Given the description of an element on the screen output the (x, y) to click on. 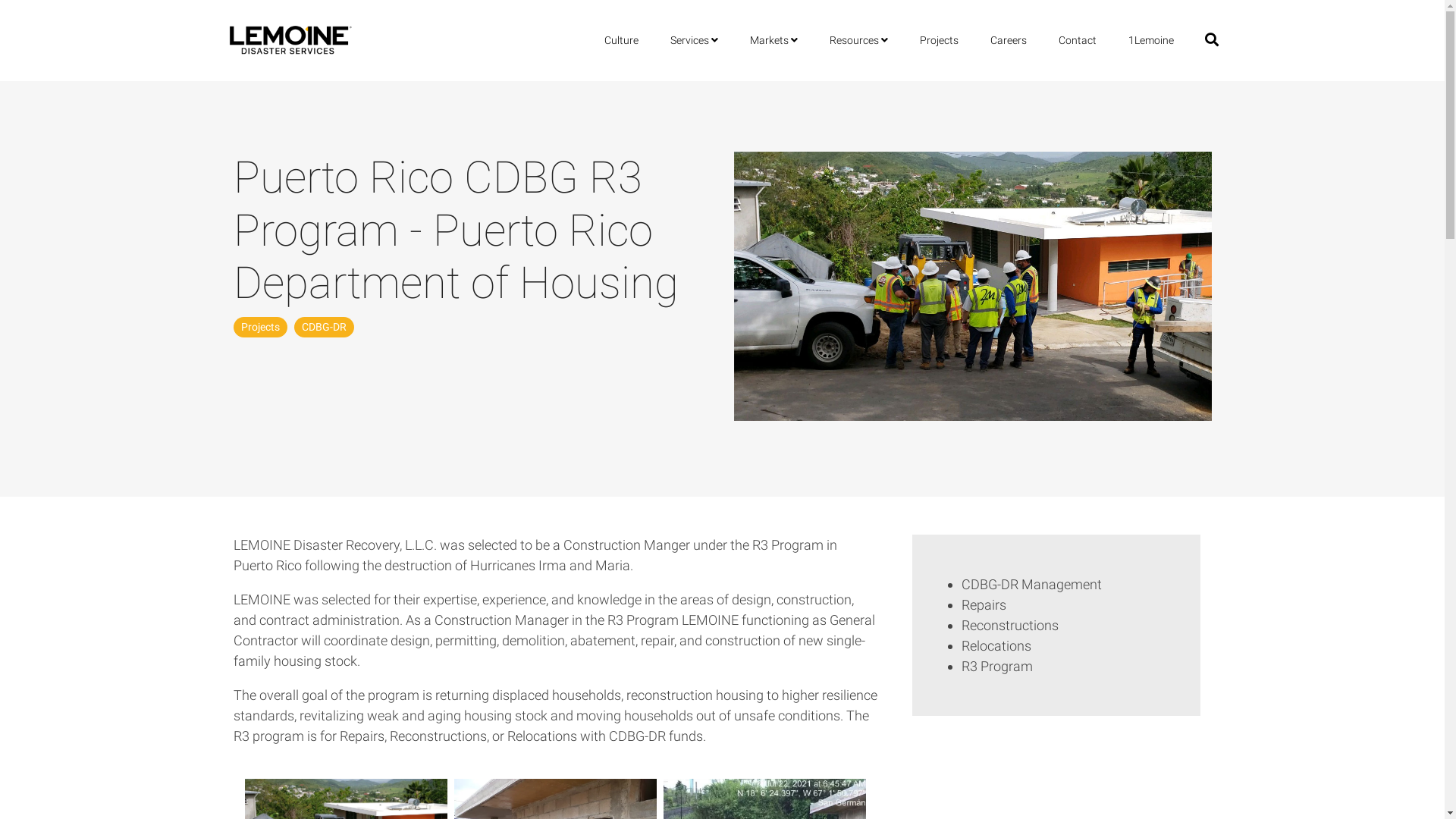
Markets Element type: text (773, 40)
Resources Element type: text (858, 40)
1Lemoine Element type: text (1150, 40)
CDBG-DR Element type: text (324, 326)
Projects Element type: text (260, 326)
Culture Element type: text (621, 40)
Careers Element type: text (1008, 40)
Services Element type: text (694, 40)
Contact Element type: text (1077, 40)
Projects Element type: text (938, 40)
